Given the description of an element on the screen output the (x, y) to click on. 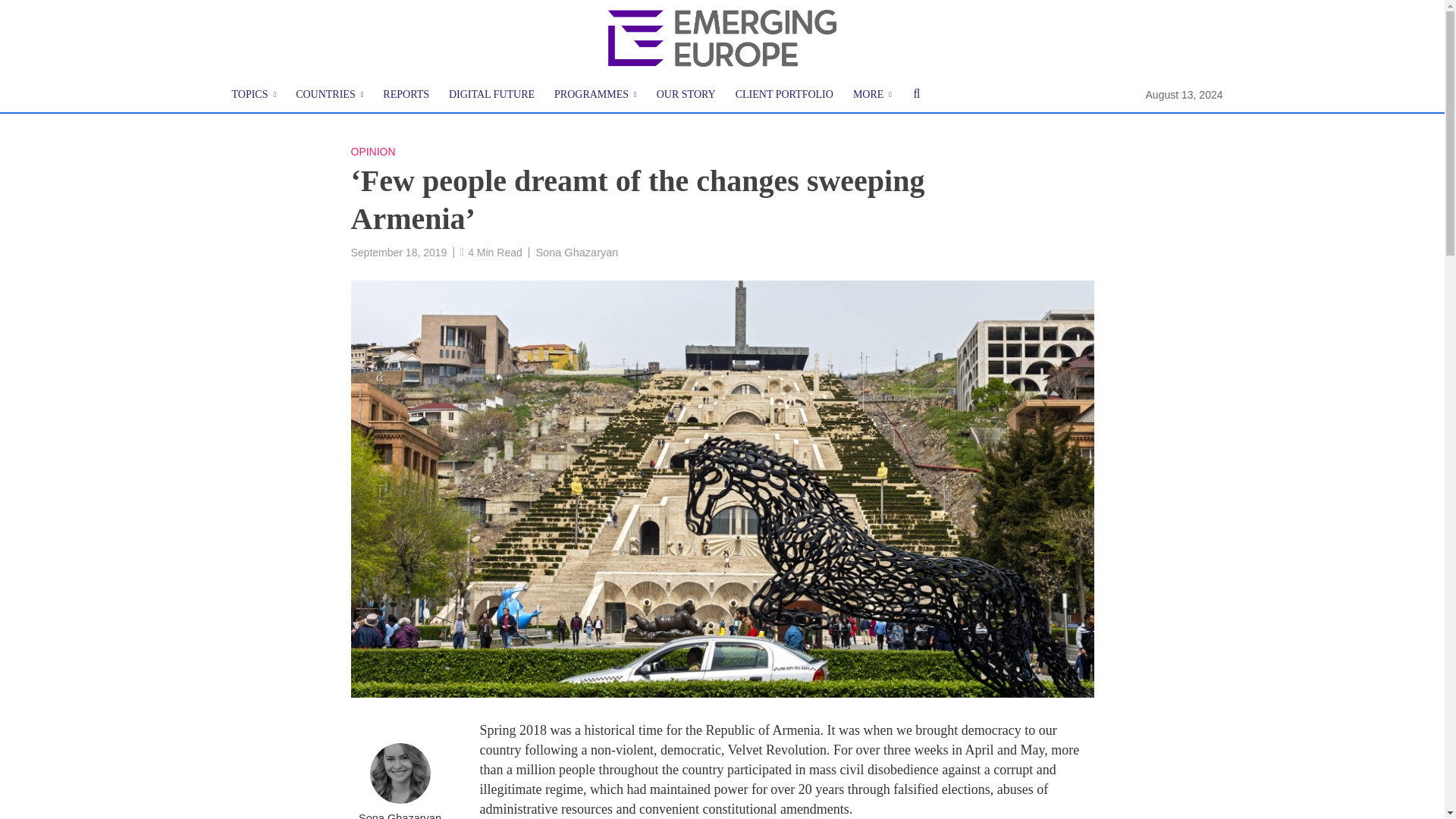
DIGITAL FUTURE (491, 94)
REPORTS (405, 94)
PROGRAMMES (595, 94)
COUNTRIES (328, 94)
TOPICS (253, 94)
